Given the description of an element on the screen output the (x, y) to click on. 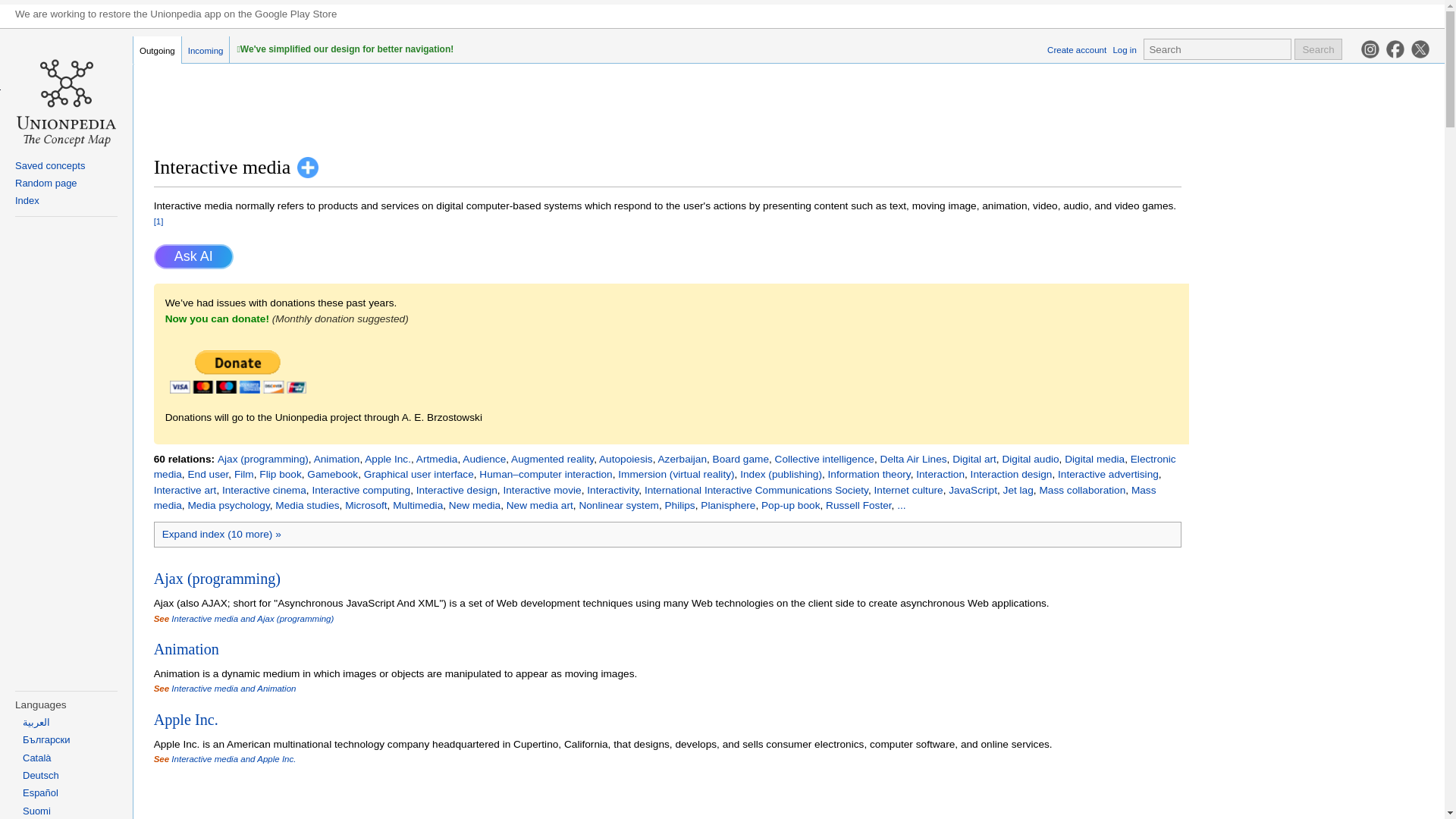
Deutsch (41, 775)
Apple Inc. (387, 459)
Search (1318, 48)
Animation (336, 459)
Autopoiesis (625, 459)
Incoming (206, 49)
Unionpedia (65, 122)
Outgoing (157, 50)
Suomi (36, 810)
Audience (484, 459)
